Given the description of an element on the screen output the (x, y) to click on. 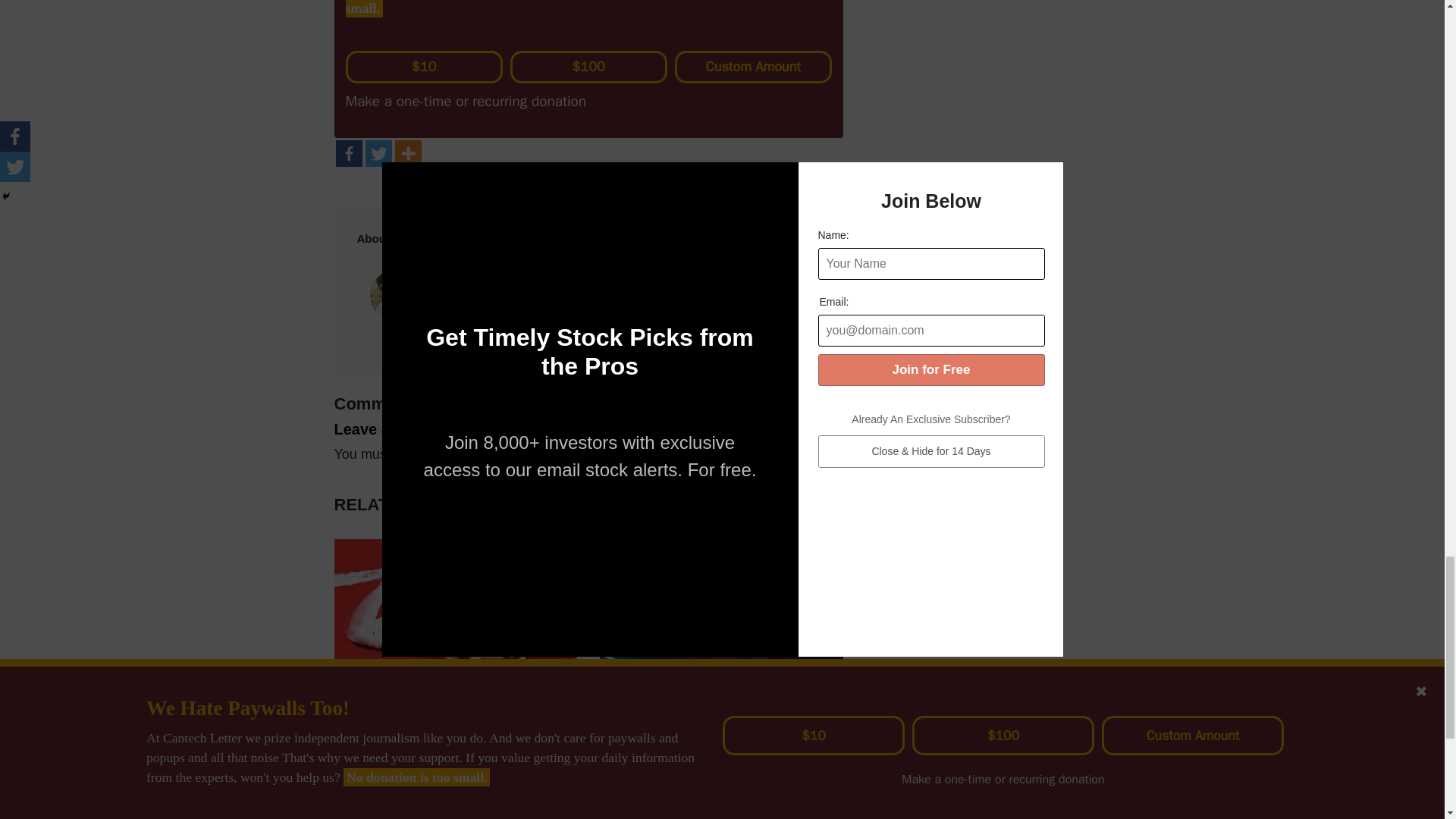
More (407, 153)
Twitter (378, 153)
Custom Amount (753, 66)
Facebook (347, 153)
